Given the description of an element on the screen output the (x, y) to click on. 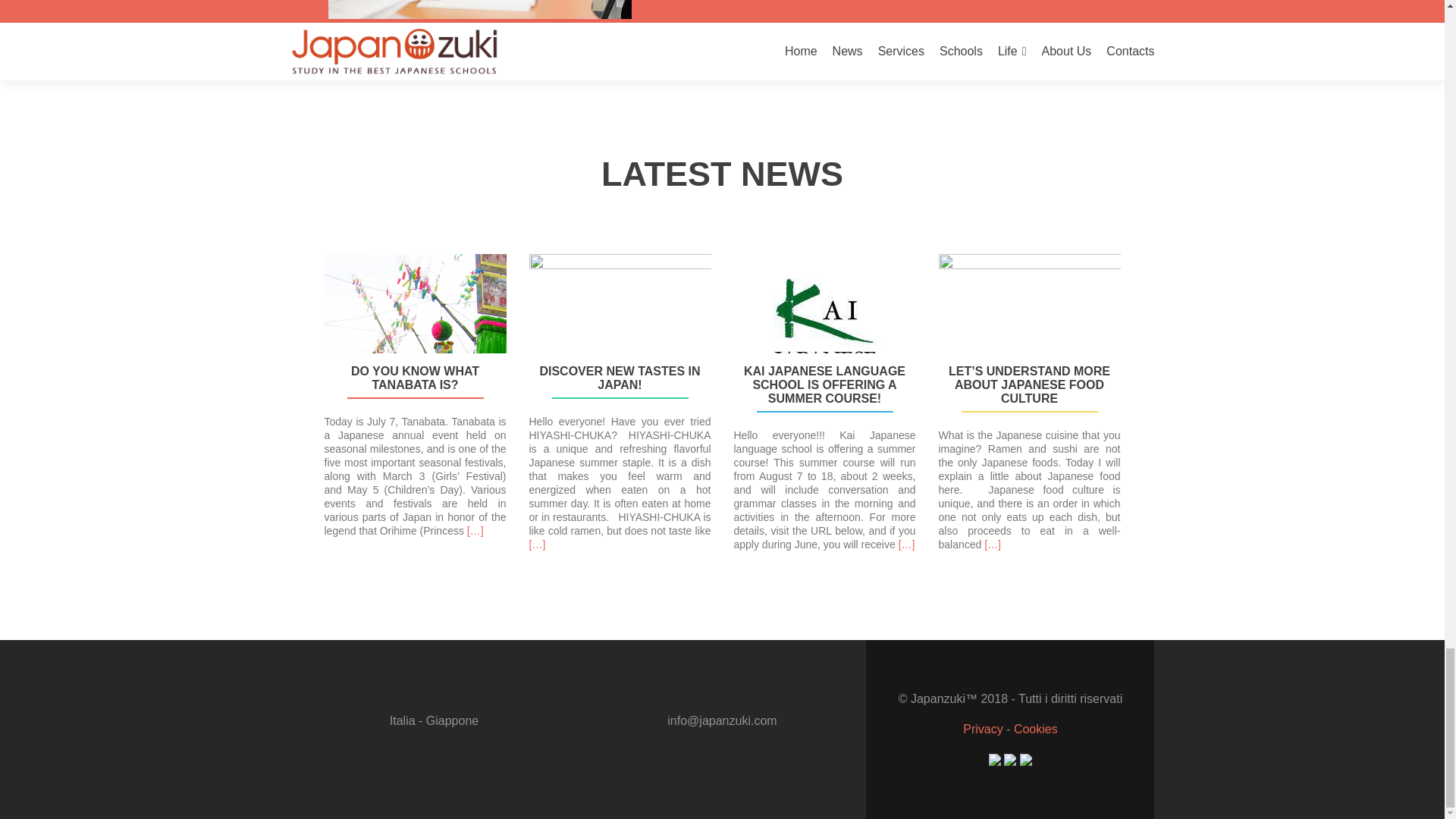
Kai Japanese language school is offering a summer course! (824, 384)
Discover new tastes in Japan! (620, 321)
Discover new tastes in Japan! (620, 378)
Kai Japanese language school is offering a summer course! (824, 329)
Do you know what Tanabata is? (415, 378)
